Given the description of an element on the screen output the (x, y) to click on. 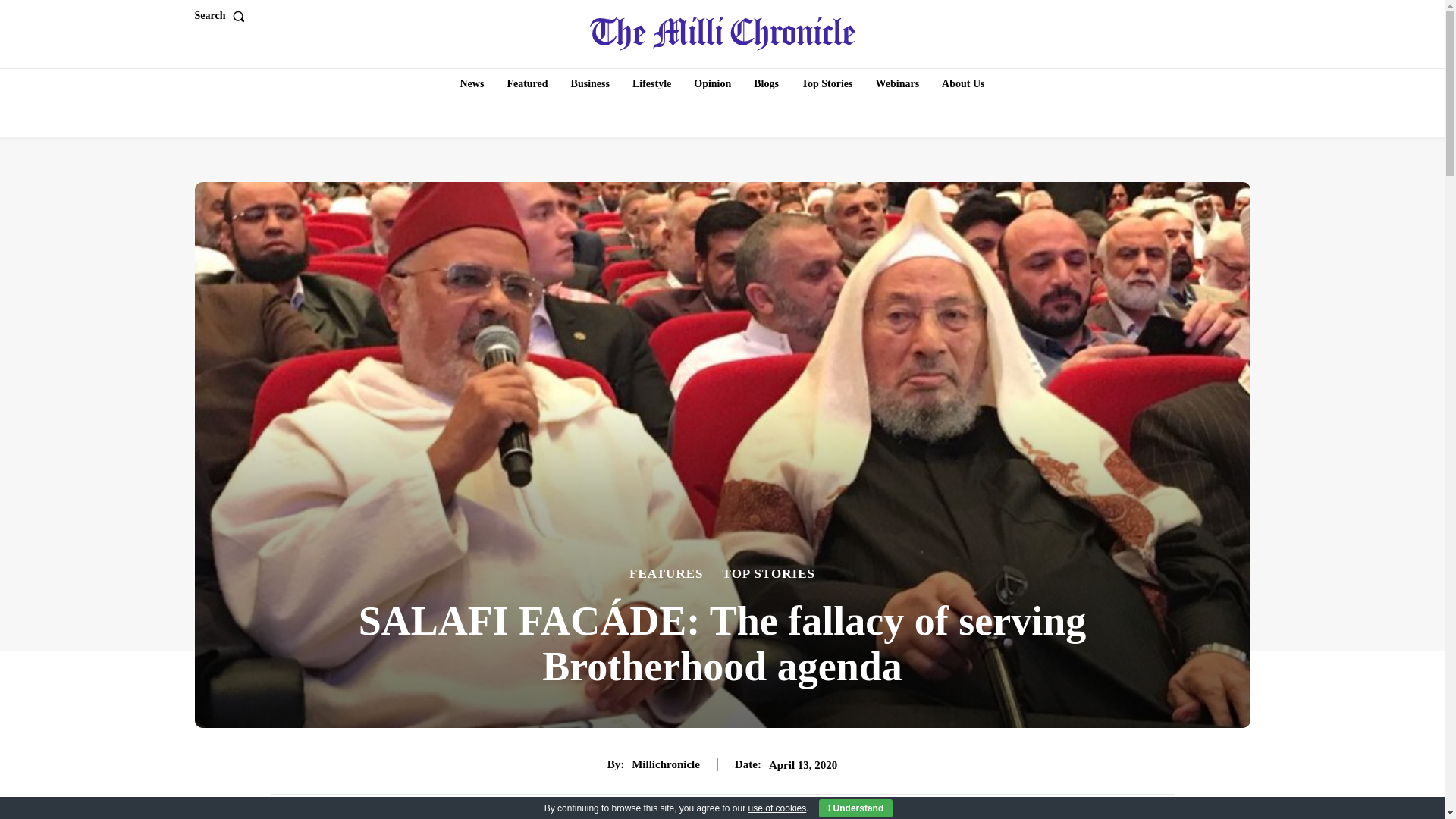
News (471, 83)
Featured (526, 83)
Business (590, 83)
Search (221, 15)
Lifestyle (651, 83)
